Given the description of an element on the screen output the (x, y) to click on. 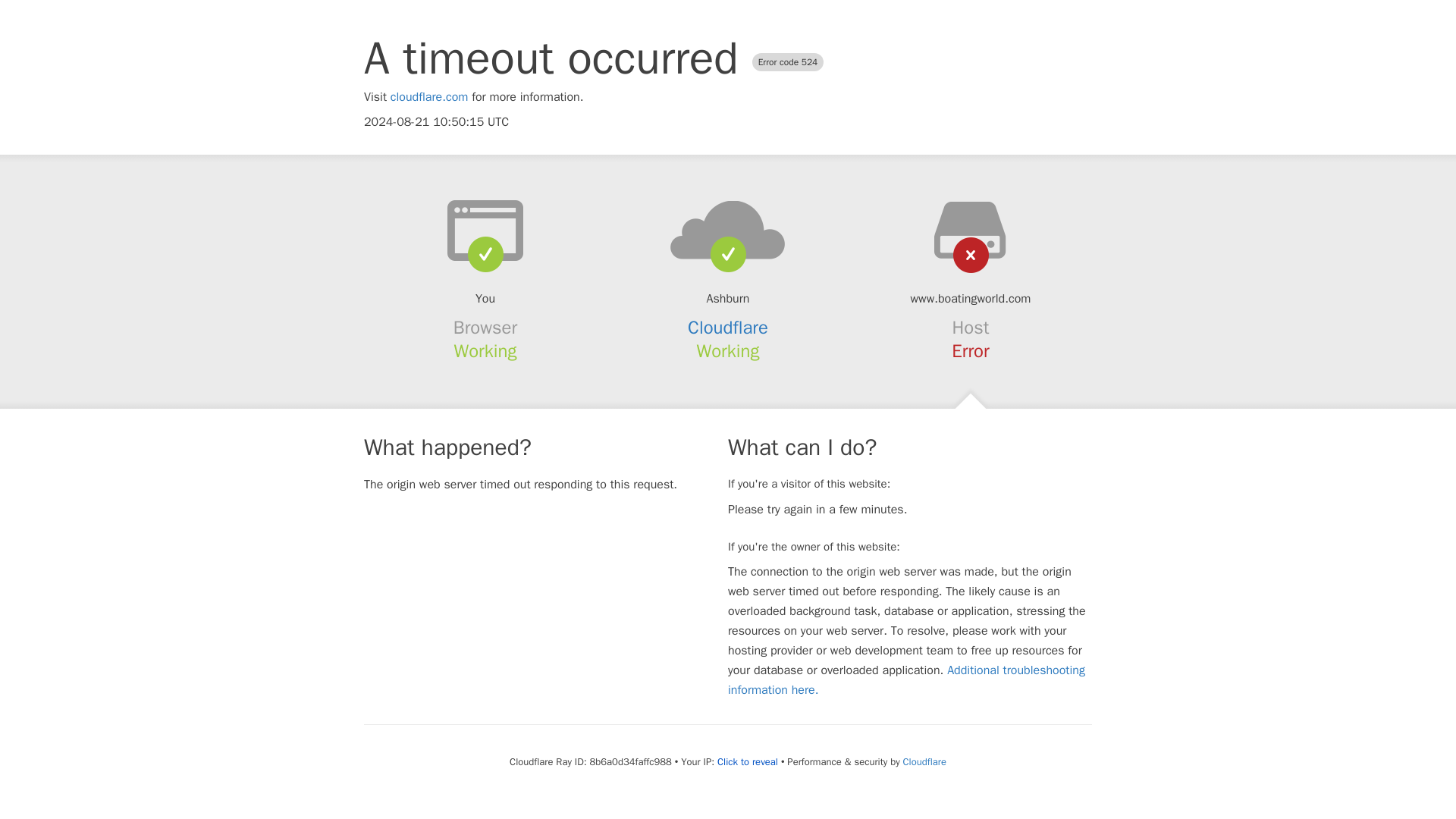
Click to reveal (747, 762)
Cloudflare (727, 327)
Additional troubleshooting information here. (906, 679)
Cloudflare (924, 761)
cloudflare.com (429, 96)
